Given the description of an element on the screen output the (x, y) to click on. 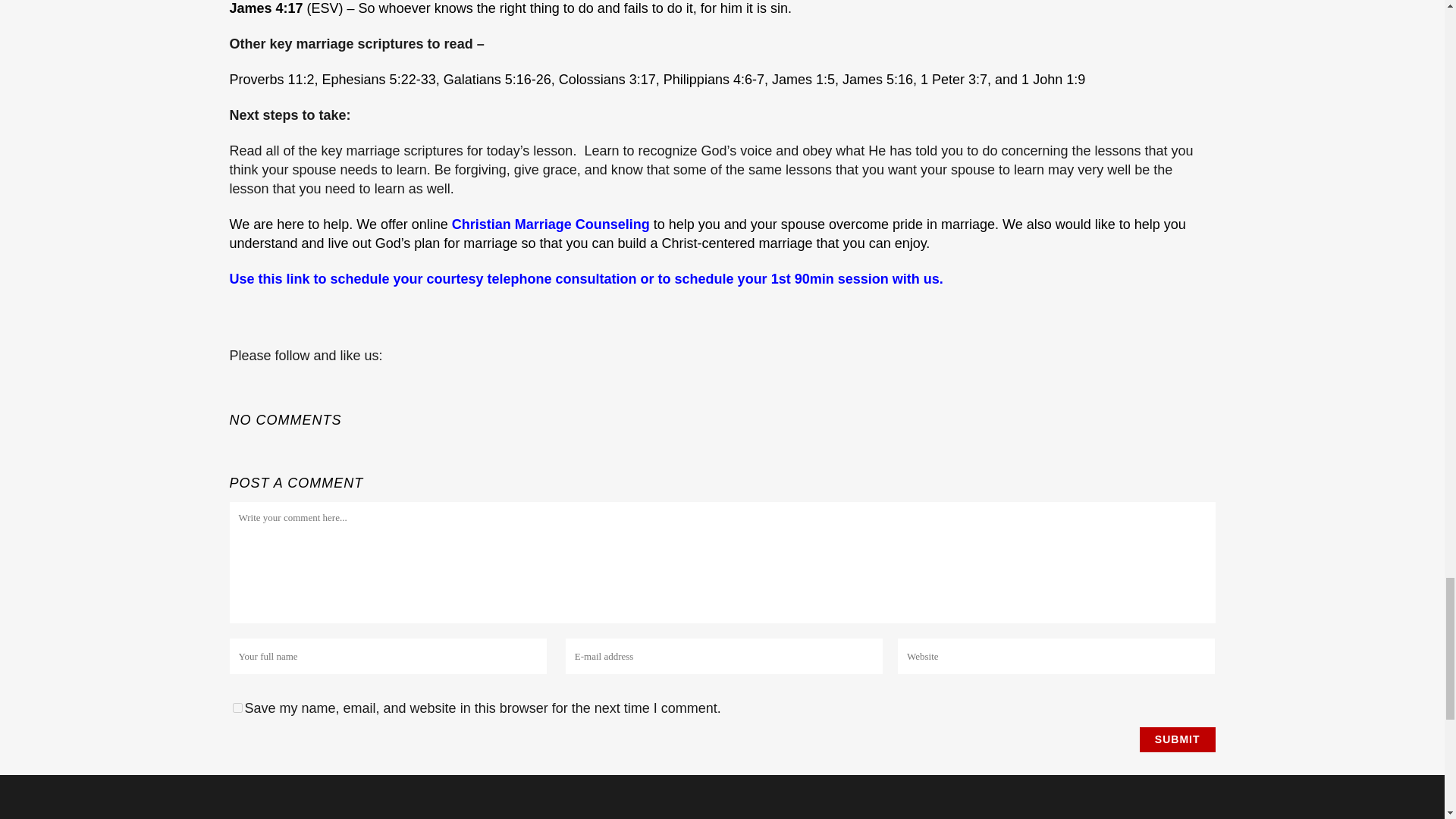
Pin Share (290, 373)
Submit (1177, 739)
Tweet (268, 375)
yes (236, 707)
Christian Marriage Counseling (552, 224)
Facebook Share (245, 373)
